Given the description of an element on the screen output the (x, y) to click on. 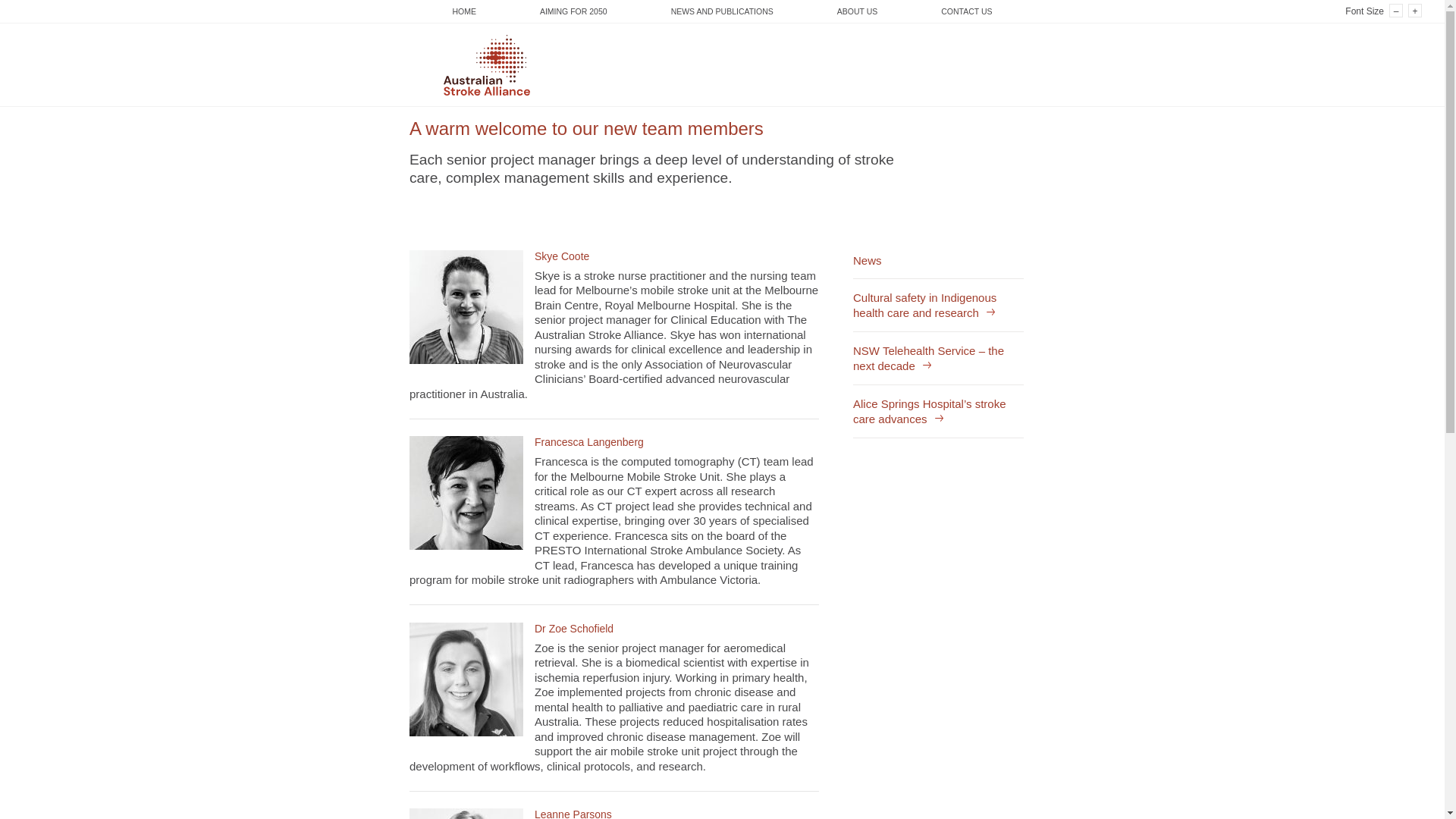
HOME (464, 11)
AIMING FOR 2050 (573, 11)
NEWS AND PUBLICATIONS (722, 11)
ABOUT US (856, 11)
CONTACT US (966, 11)
